Given the description of an element on the screen output the (x, y) to click on. 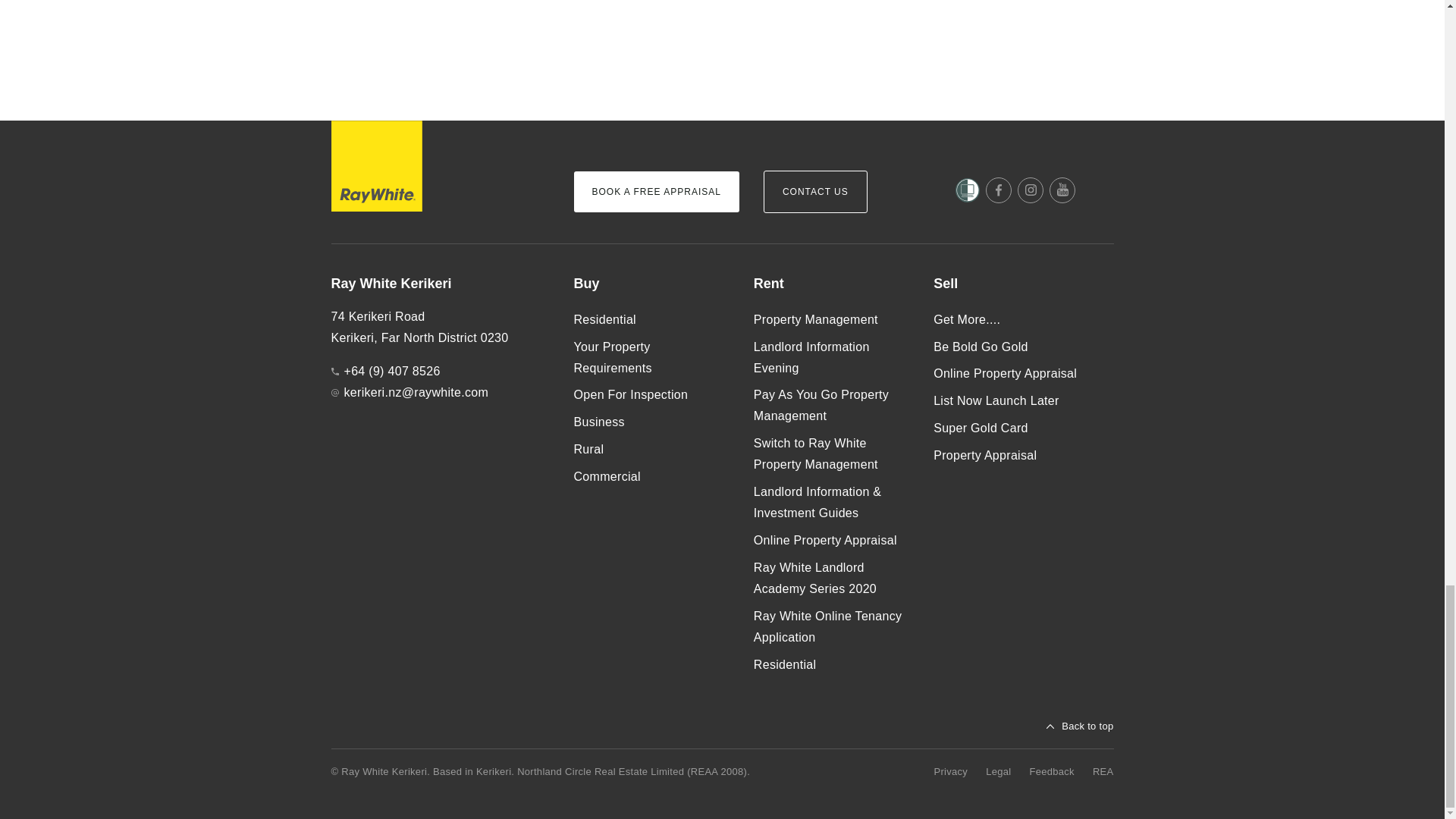
BOOK A FREE APPRAISAL (655, 191)
Ray White Kerikeri (439, 284)
Ray White (376, 165)
CONTACT US (814, 191)
Facebook (998, 190)
Instagram (1030, 190)
Youtube (1062, 190)
